Given the description of an element on the screen output the (x, y) to click on. 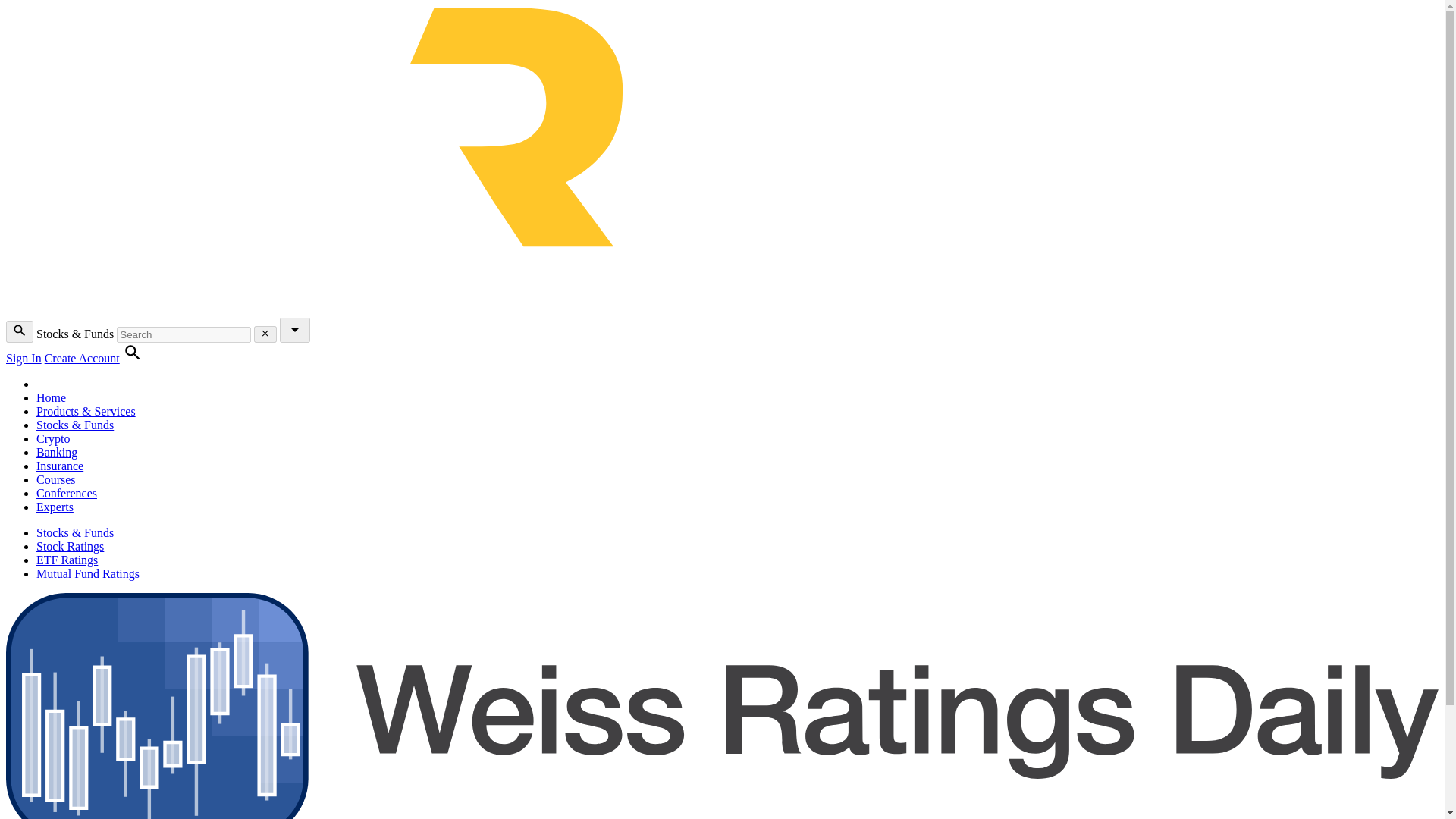
Insurance (59, 465)
Conferences (66, 492)
Search Weiss Ratings (19, 332)
Sign In (23, 358)
Search (132, 358)
ETF Ratings (66, 559)
Banking (56, 451)
Crypto (52, 438)
Stock Ratings (69, 545)
Experts (55, 506)
